Given the description of an element on the screen output the (x, y) to click on. 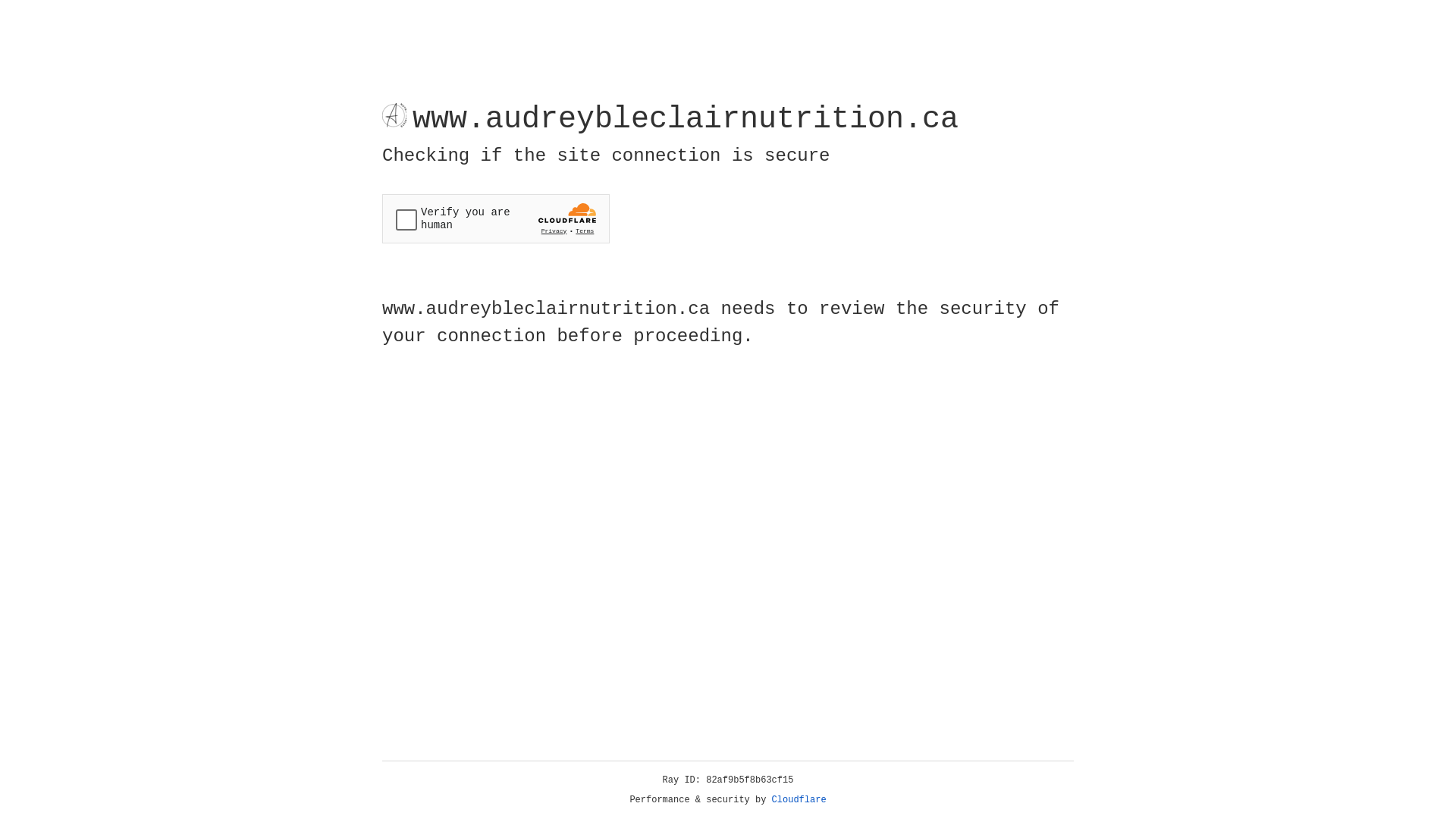
Widget containing a Cloudflare security challenge Element type: hover (495, 218)
Cloudflare Element type: text (798, 799)
